Given the description of an element on the screen output the (x, y) to click on. 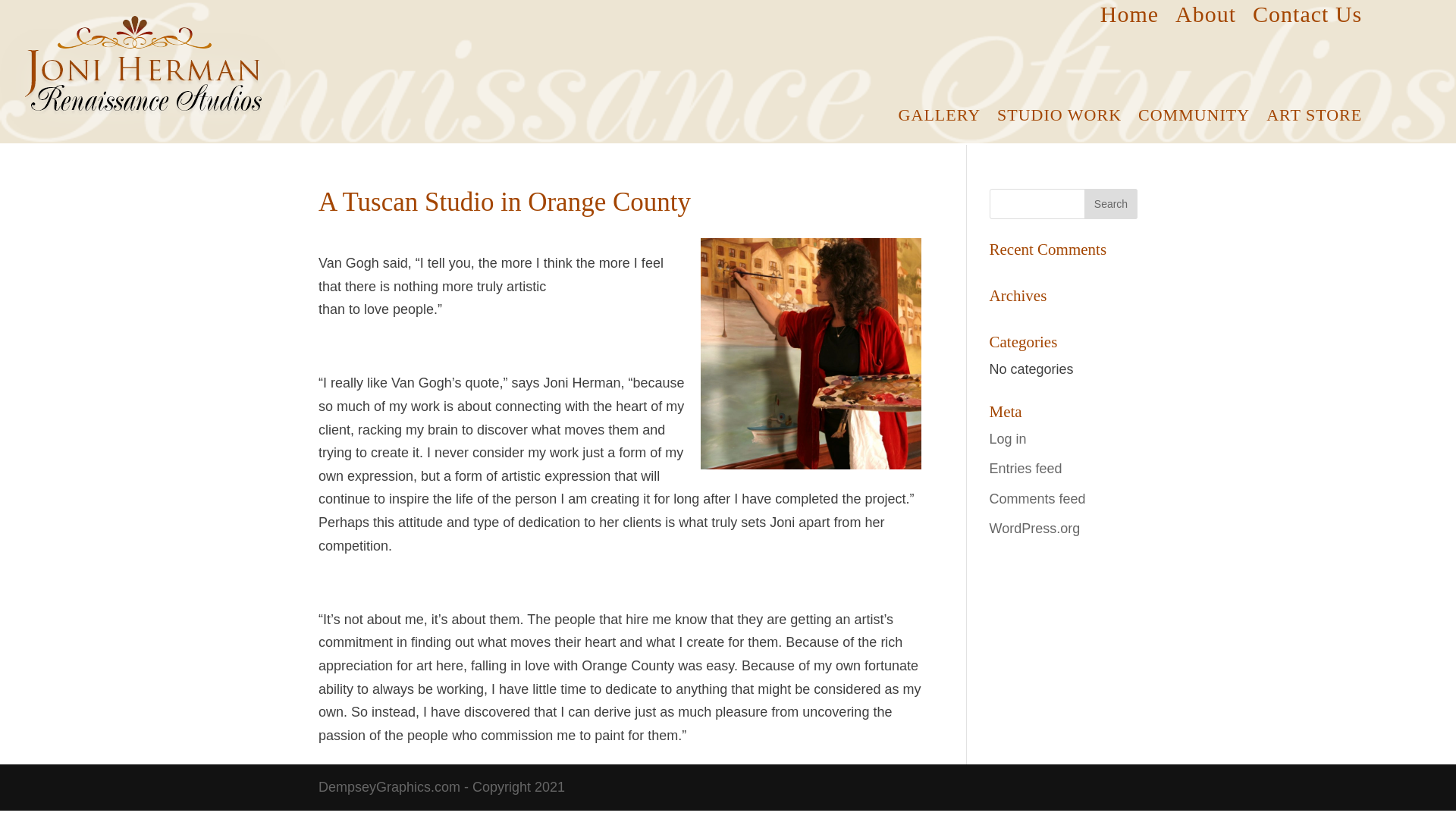
Search (1110, 204)
About (1205, 17)
joni-herman-logo (142, 79)
Home (1129, 17)
ART STORE (1313, 117)
STUDIO WORK (1059, 117)
Search (1110, 204)
Entries feed (1026, 468)
GALLERY (938, 117)
WordPress.org (1035, 528)
Comments feed (1038, 498)
Contact Us (1306, 17)
Log in (1008, 438)
COMMUNITY (1193, 117)
